Given the description of an element on the screen output the (x, y) to click on. 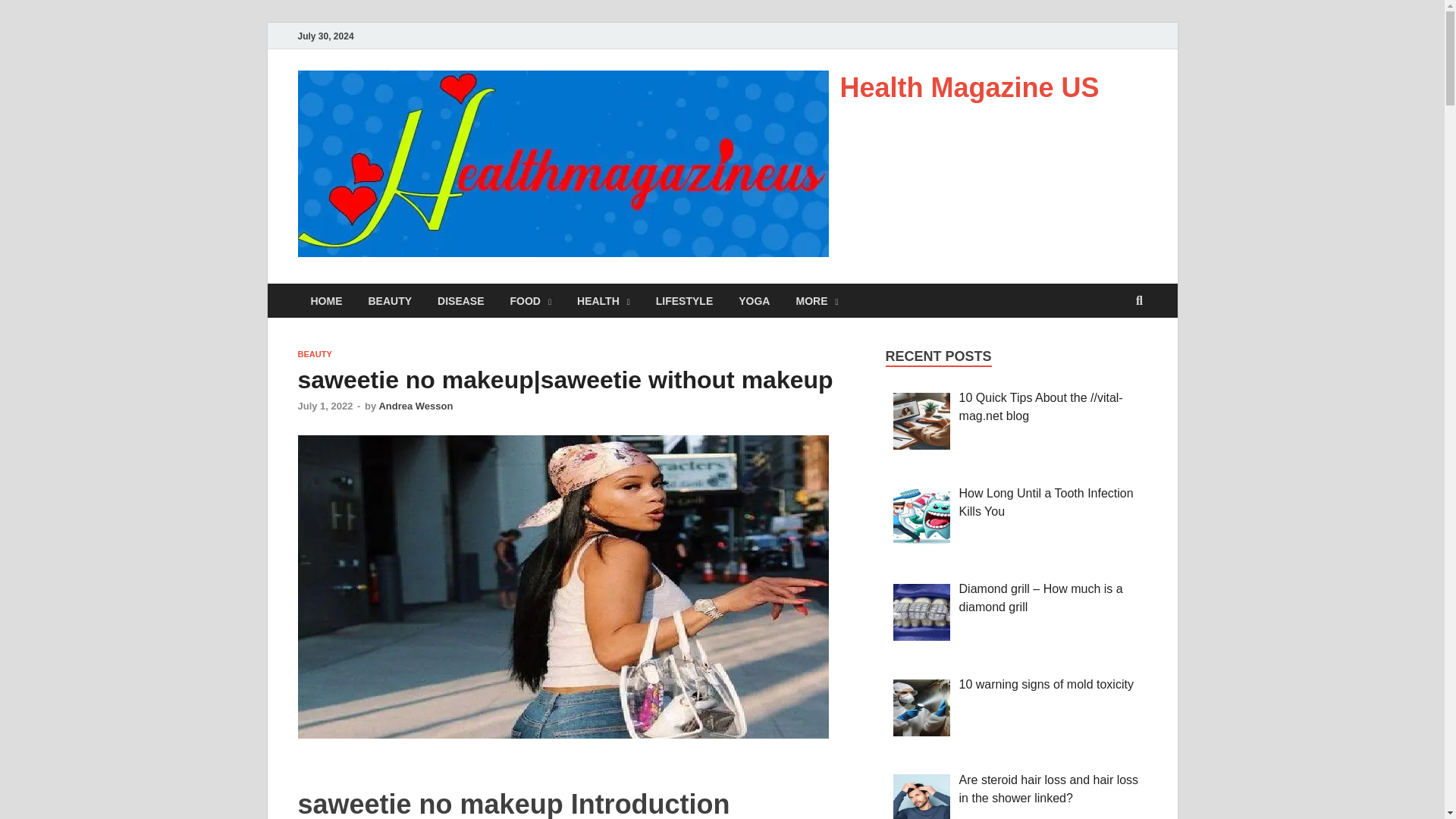
LIFESTYLE (684, 300)
Andrea Wesson (415, 405)
BEAUTY (314, 353)
BEAUTY (390, 300)
YOGA (754, 300)
HOME (326, 300)
DISEASE (460, 300)
HEALTH (603, 300)
Health Magazine US (969, 87)
MORE (816, 300)
FOOD (530, 300)
July 1, 2022 (324, 405)
